Given the description of an element on the screen output the (x, y) to click on. 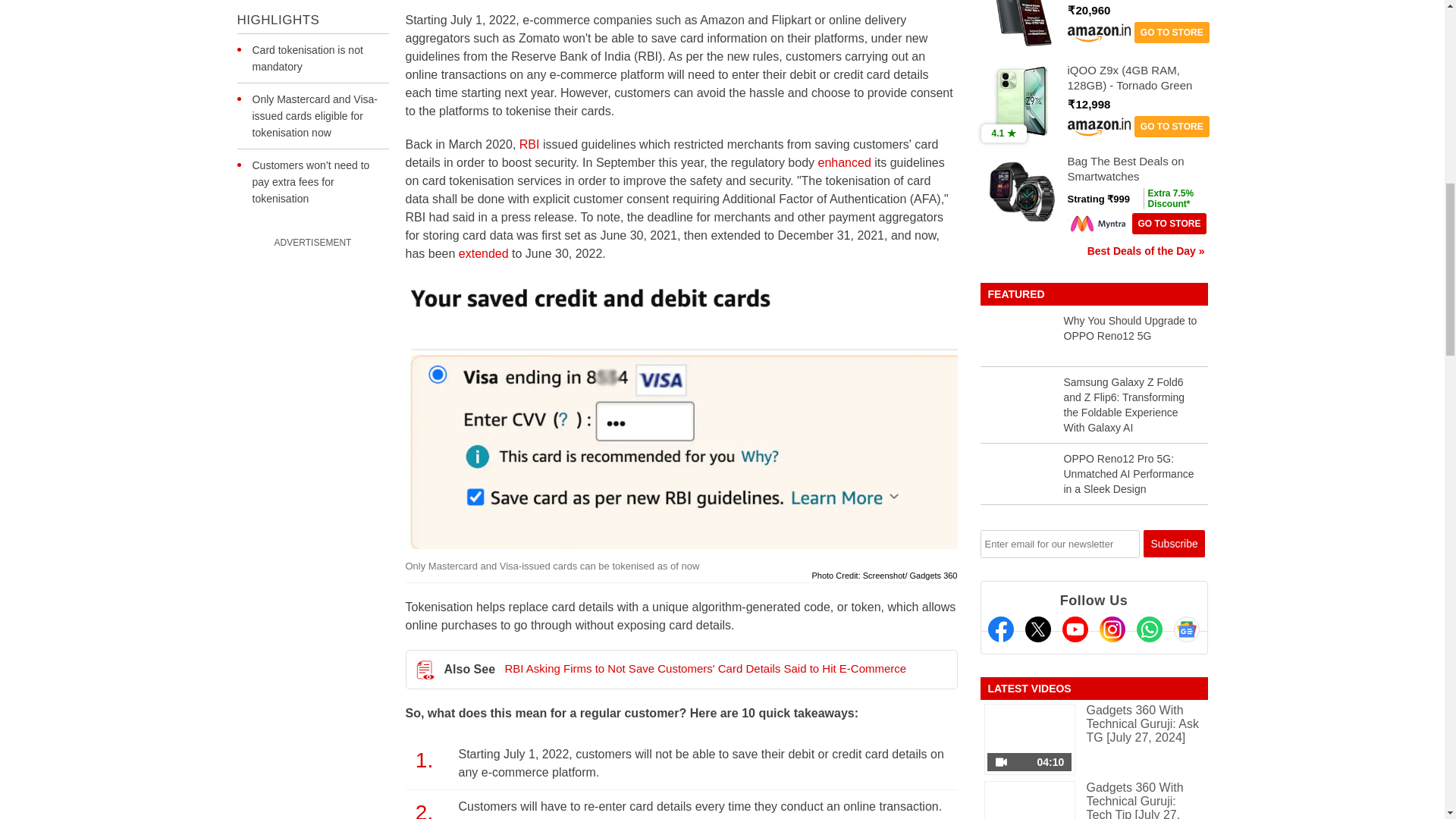
Subscribe (1173, 543)
